Given the description of an element on the screen output the (x, y) to click on. 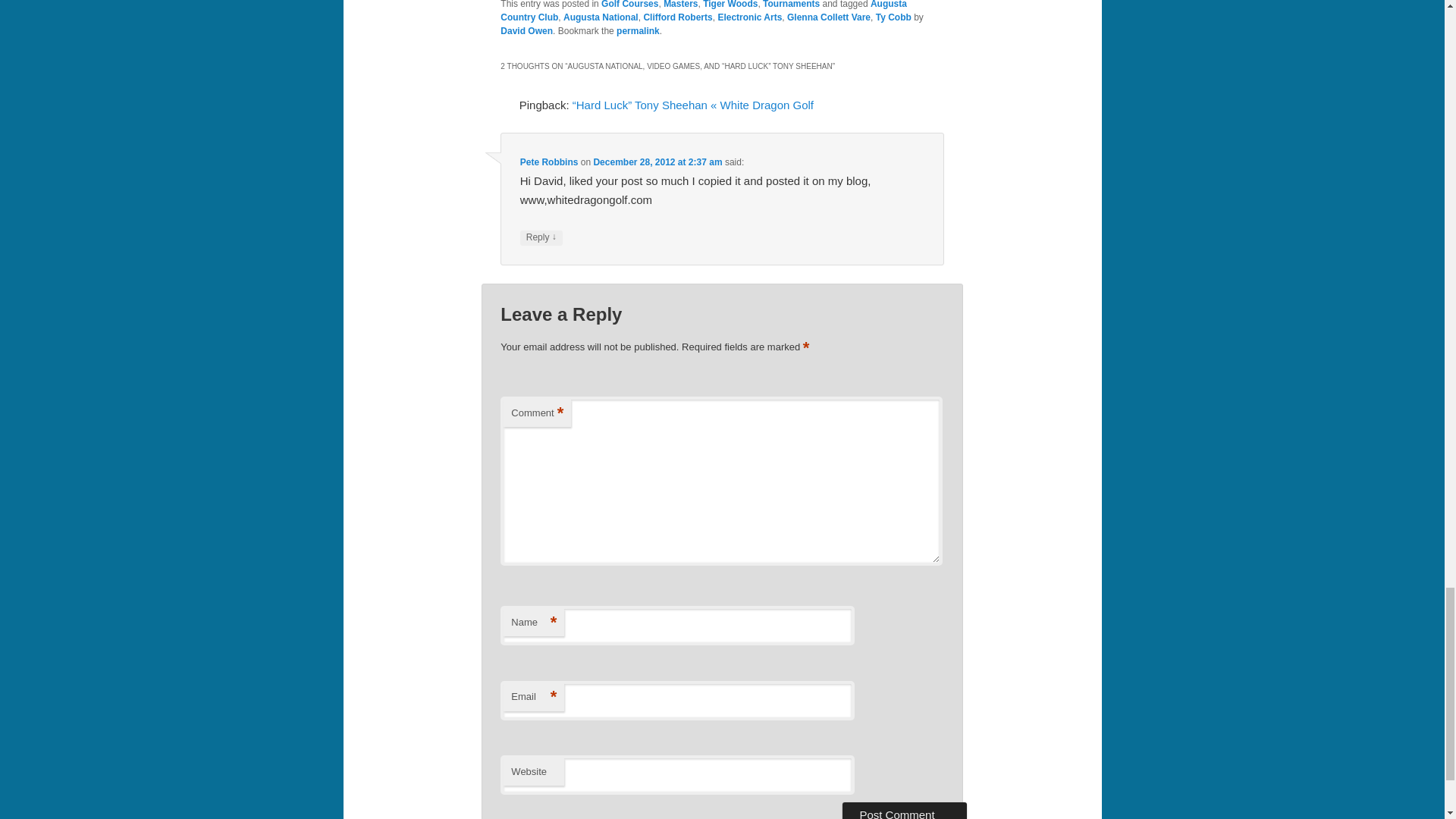
Tournaments (790, 4)
Post Comment (904, 810)
David Owen (526, 30)
Post Comment (904, 810)
Golf Courses (629, 4)
Augusta Country Club (703, 11)
Augusta National (601, 17)
Ty Cobb (893, 17)
Pete Robbins (548, 162)
Clifford Roberts (677, 17)
